Given the description of an element on the screen output the (x, y) to click on. 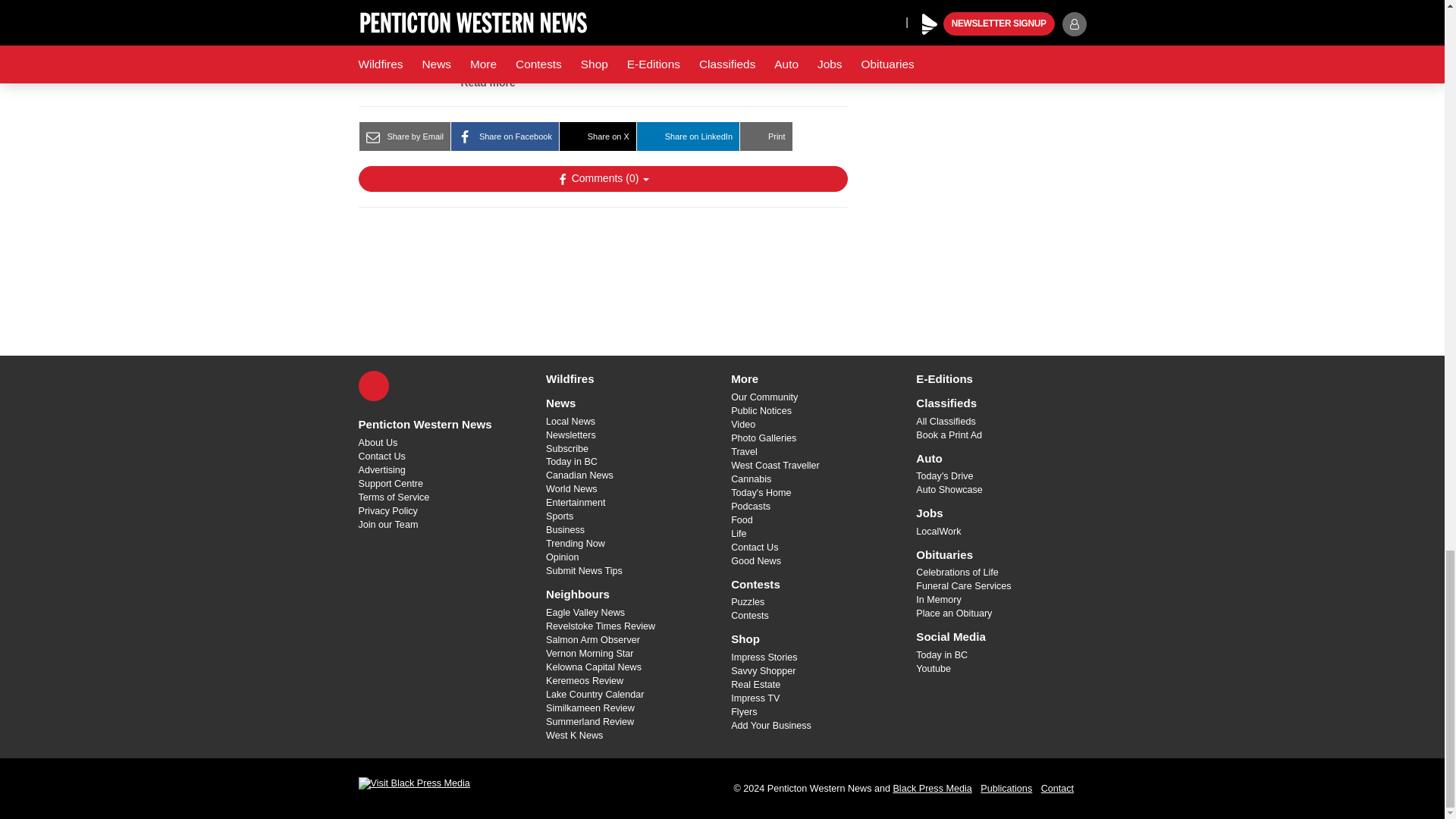
X (373, 386)
Show Comments (602, 178)
